Given the description of an element on the screen output the (x, y) to click on. 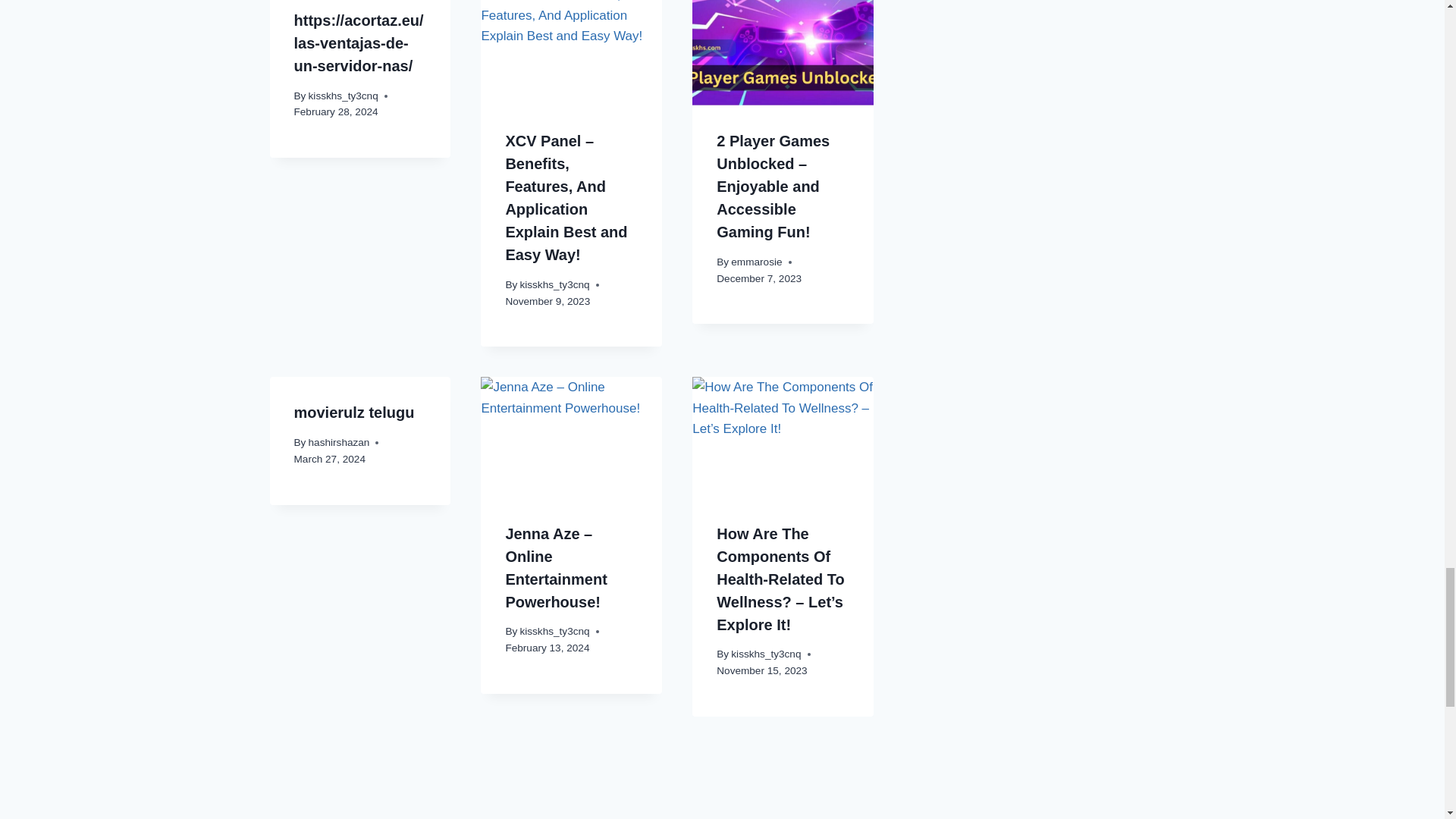
emmarosie (755, 261)
hashirshazan (338, 441)
movierulz telugu (354, 412)
